Given the description of an element on the screen output the (x, y) to click on. 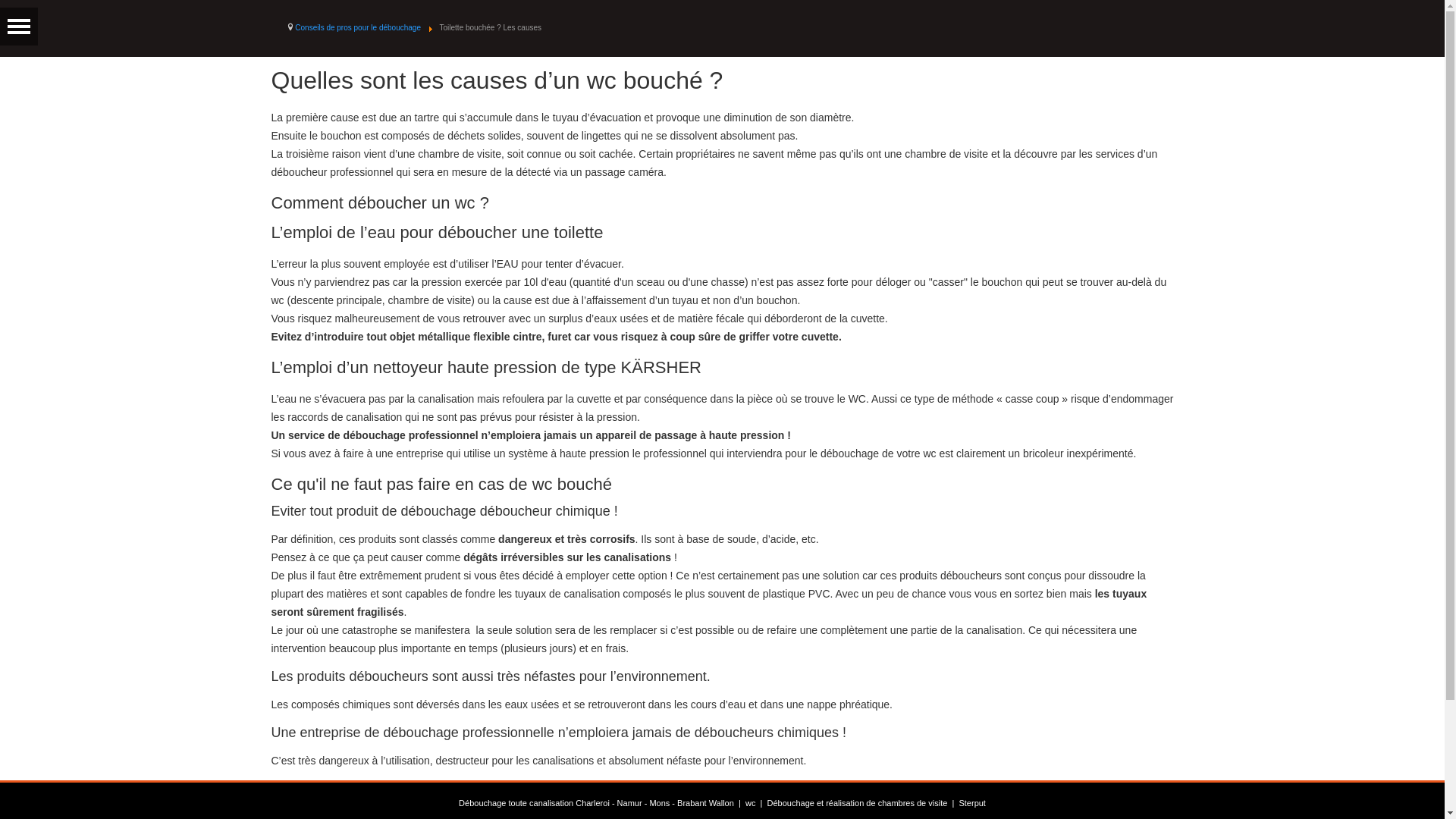
wc Element type: text (750, 802)
Sterput Element type: text (971, 802)
